Given the description of an element on the screen output the (x, y) to click on. 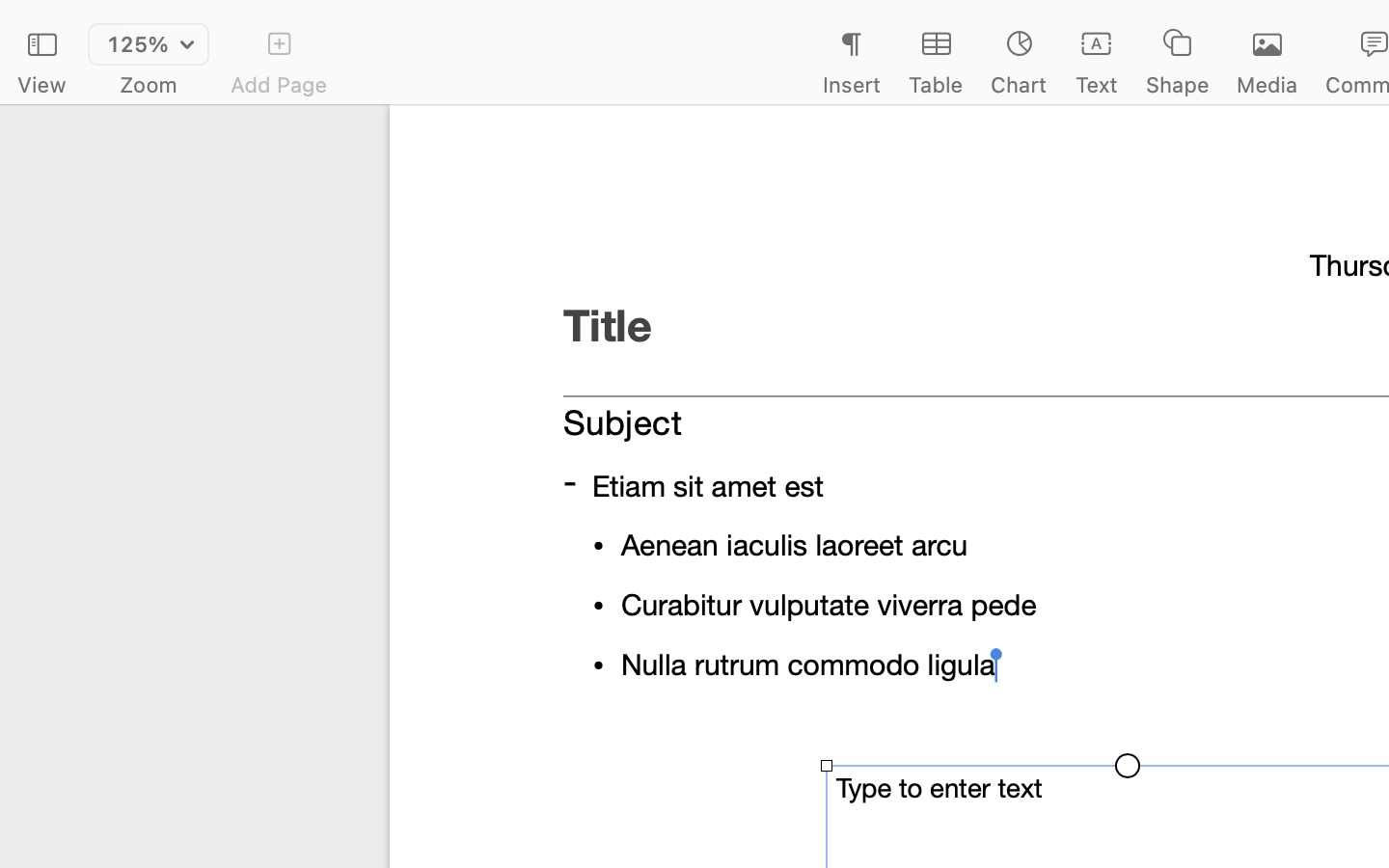
View Element type: AXStaticText (41, 84)
Click to link text boxes together. Element type: AXStaticText (1126, 568)
Learn More Element type: AXStaticText (1126, 618)
Media Element type: AXStaticText (1267, 84)
